Given the description of an element on the screen output the (x, y) to click on. 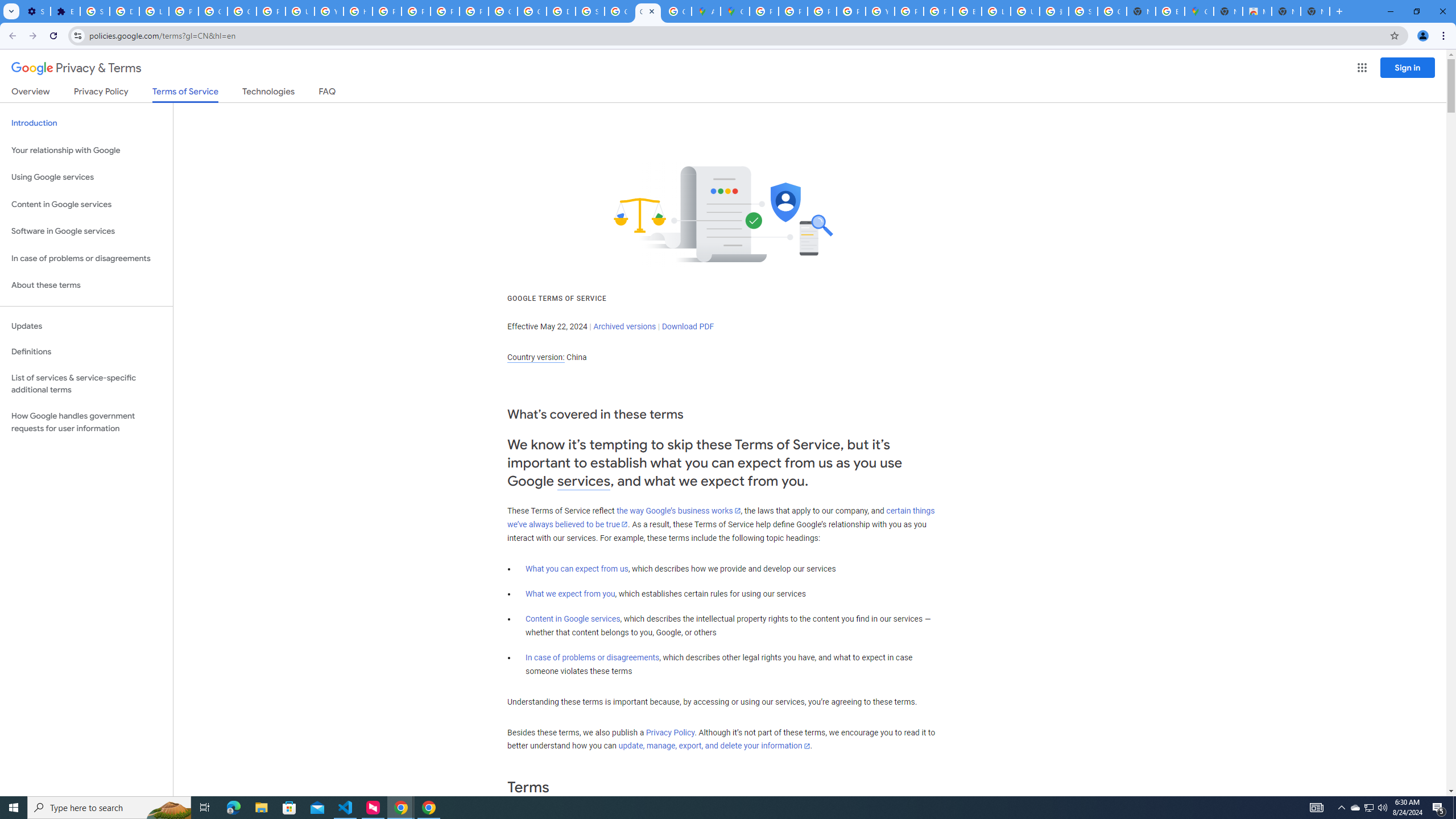
Software in Google services (86, 230)
Using Google services (86, 176)
Google Maps (1198, 11)
Country version: (535, 357)
